Given the description of an element on the screen output the (x, y) to click on. 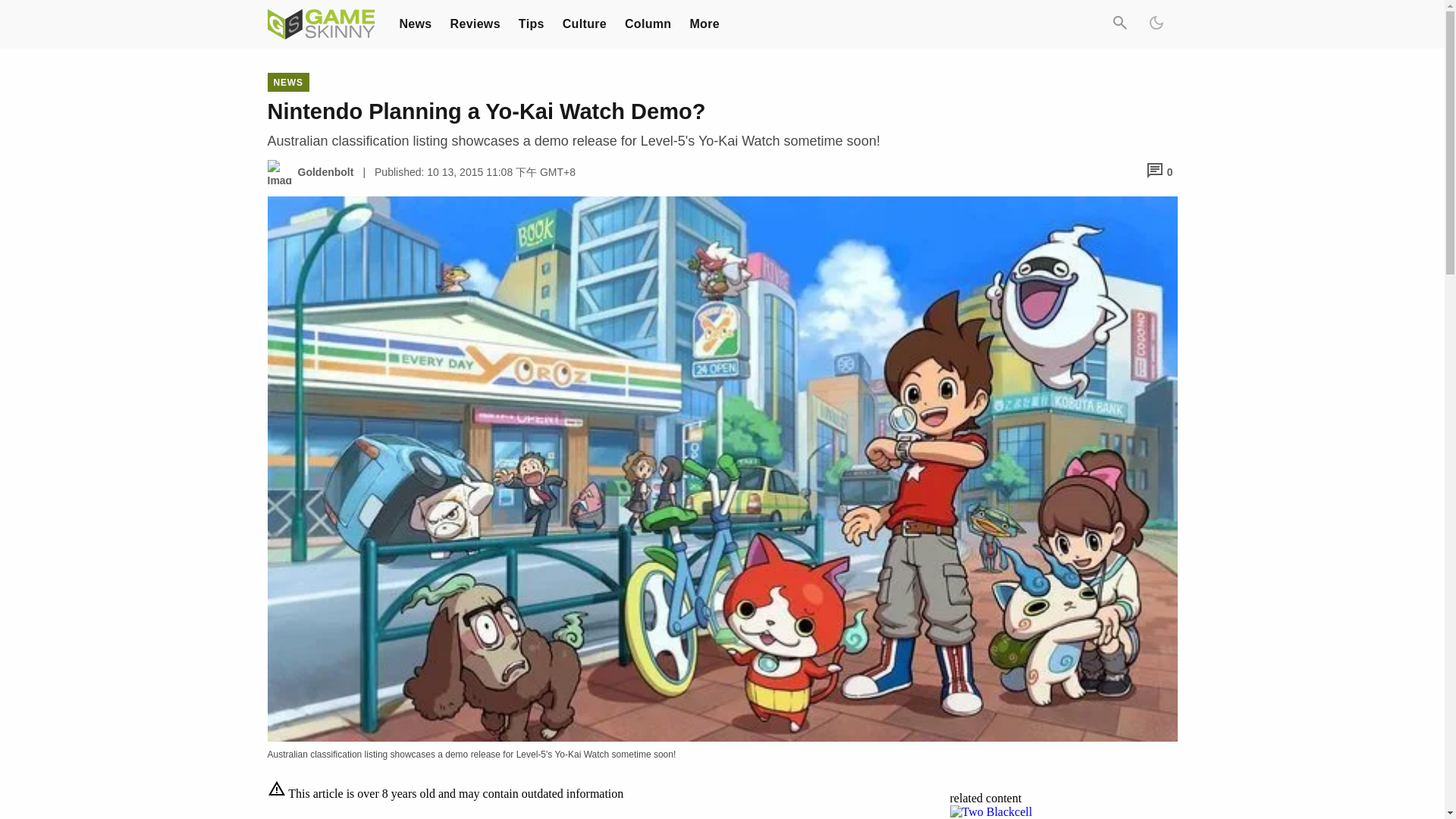
Tips (531, 23)
Dark Mode (1155, 23)
News (414, 23)
Culture (584, 23)
Column (647, 23)
Search (1118, 23)
Reviews (474, 23)
